Given the description of an element on the screen output the (x, y) to click on. 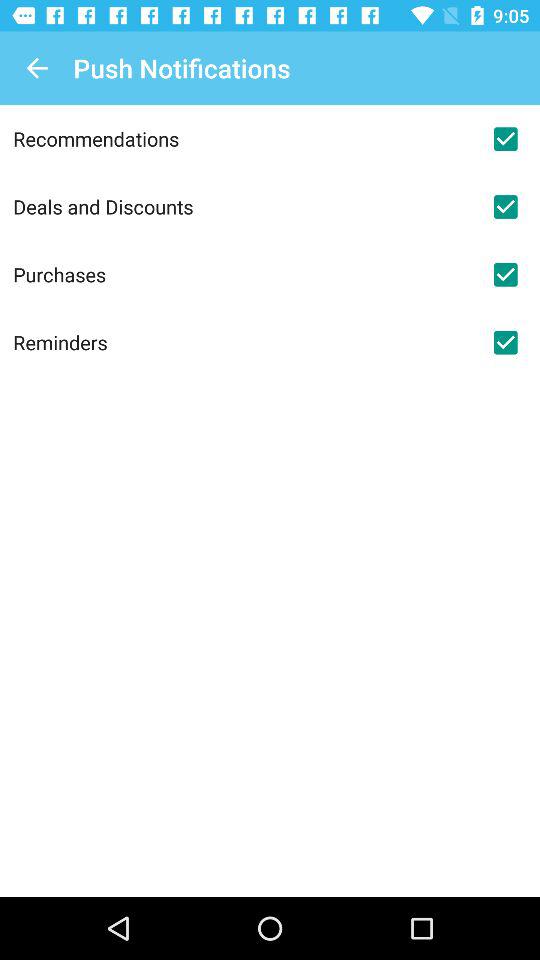
allow deals and discounts notifications (505, 207)
